Given the description of an element on the screen output the (x, y) to click on. 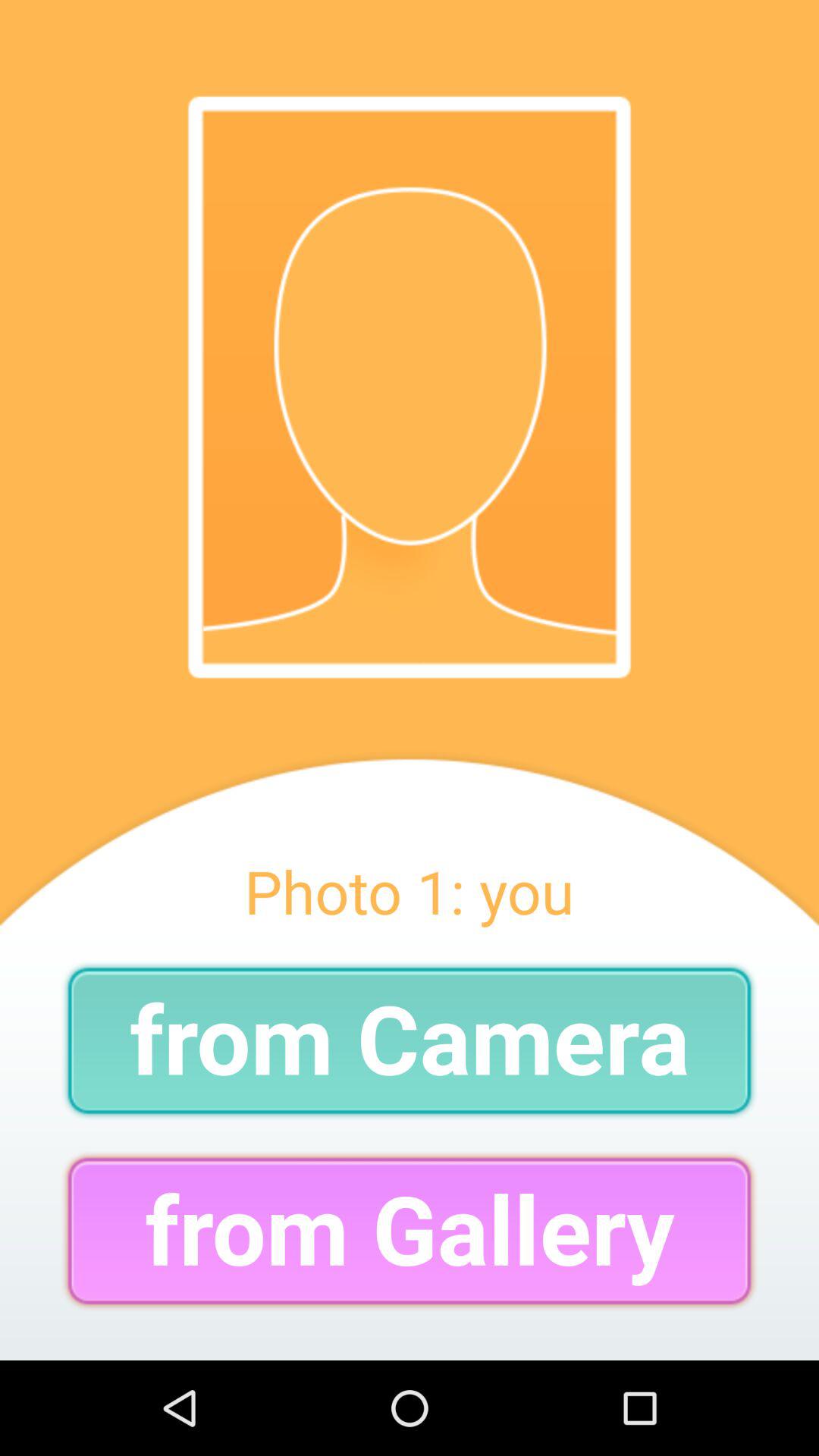
open the from camera item (409, 1040)
